Given the description of an element on the screen output the (x, y) to click on. 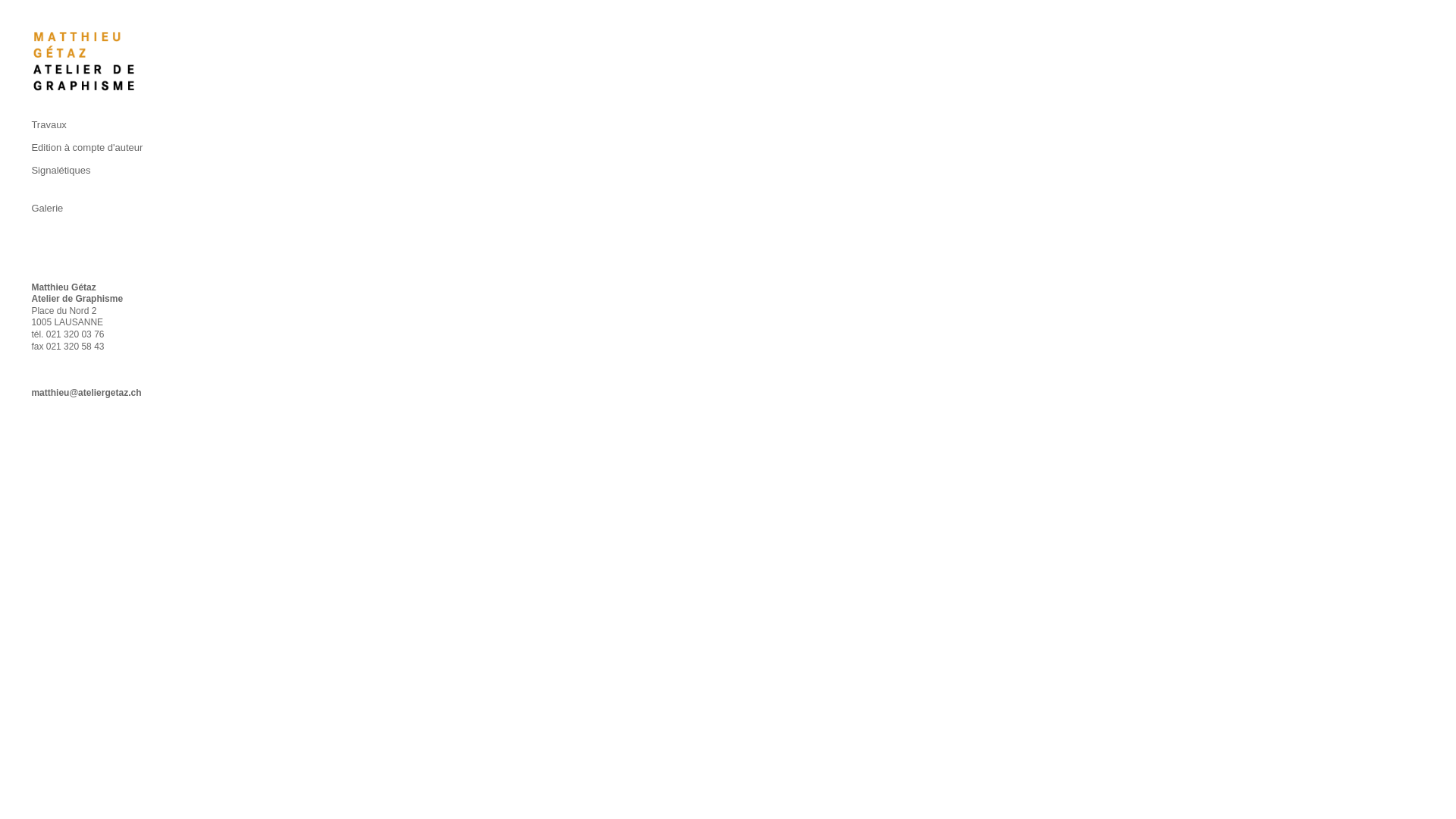
Travaux Element type: text (100, 124)
Galerie Element type: text (100, 200)
matthieu@ateliergetaz.ch Element type: text (86, 392)
